Given the description of an element on the screen output the (x, y) to click on. 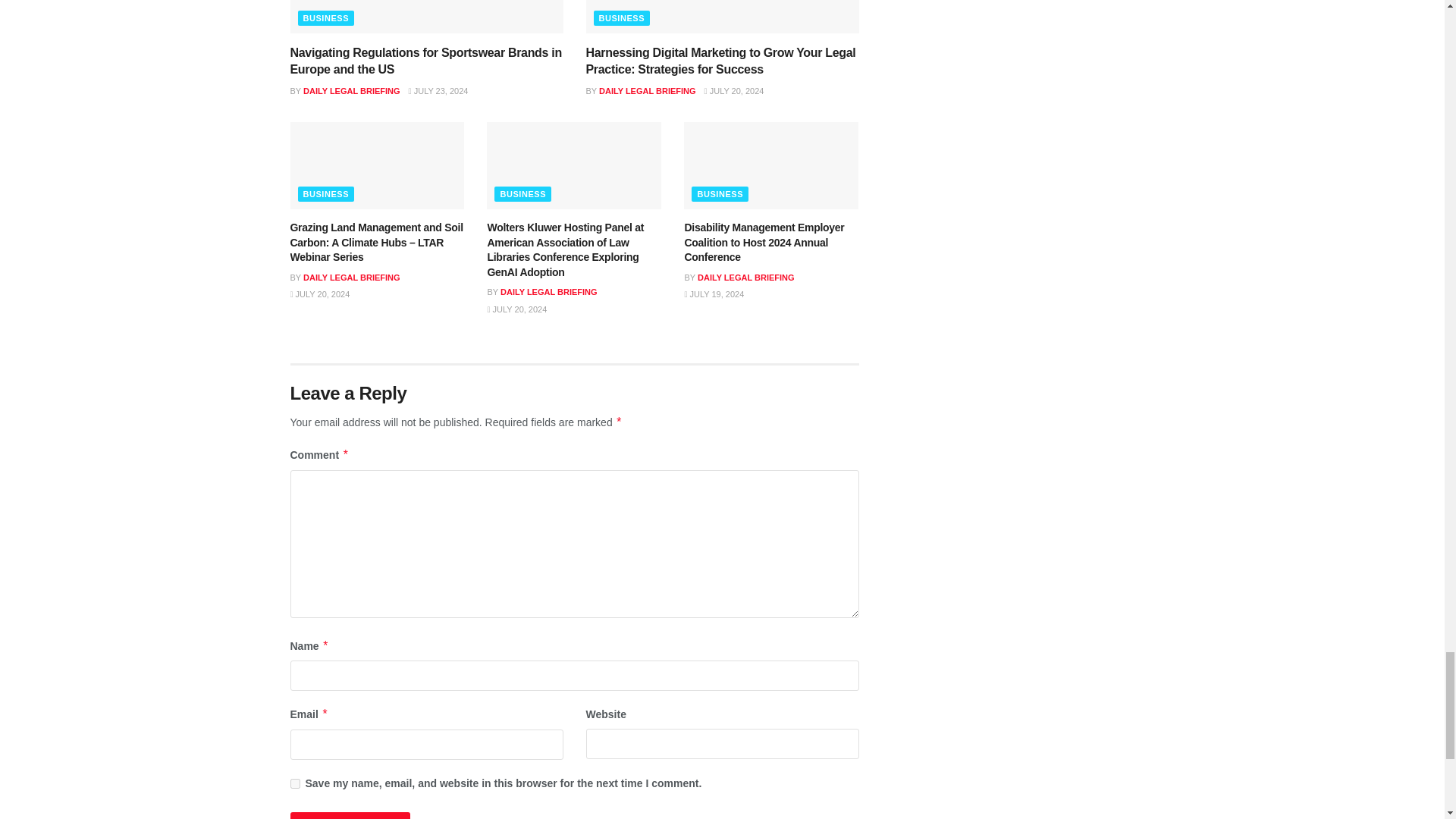
Post Comment (349, 815)
BUSINESS (325, 17)
yes (294, 783)
